Given the description of an element on the screen output the (x, y) to click on. 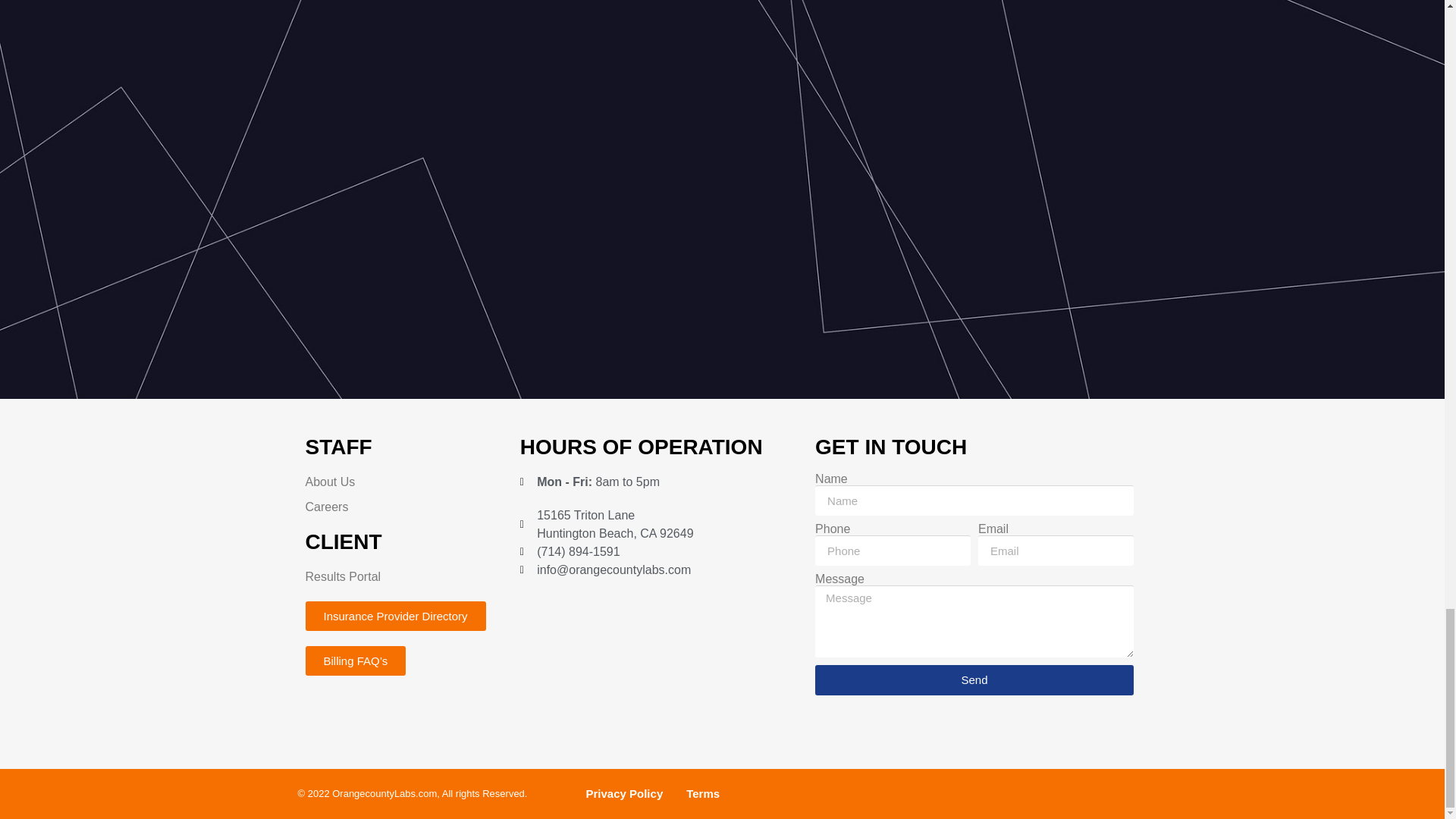
15165 Triton Lane Huntington Beach, CA 92649 (651, 673)
